Given the description of an element on the screen output the (x, y) to click on. 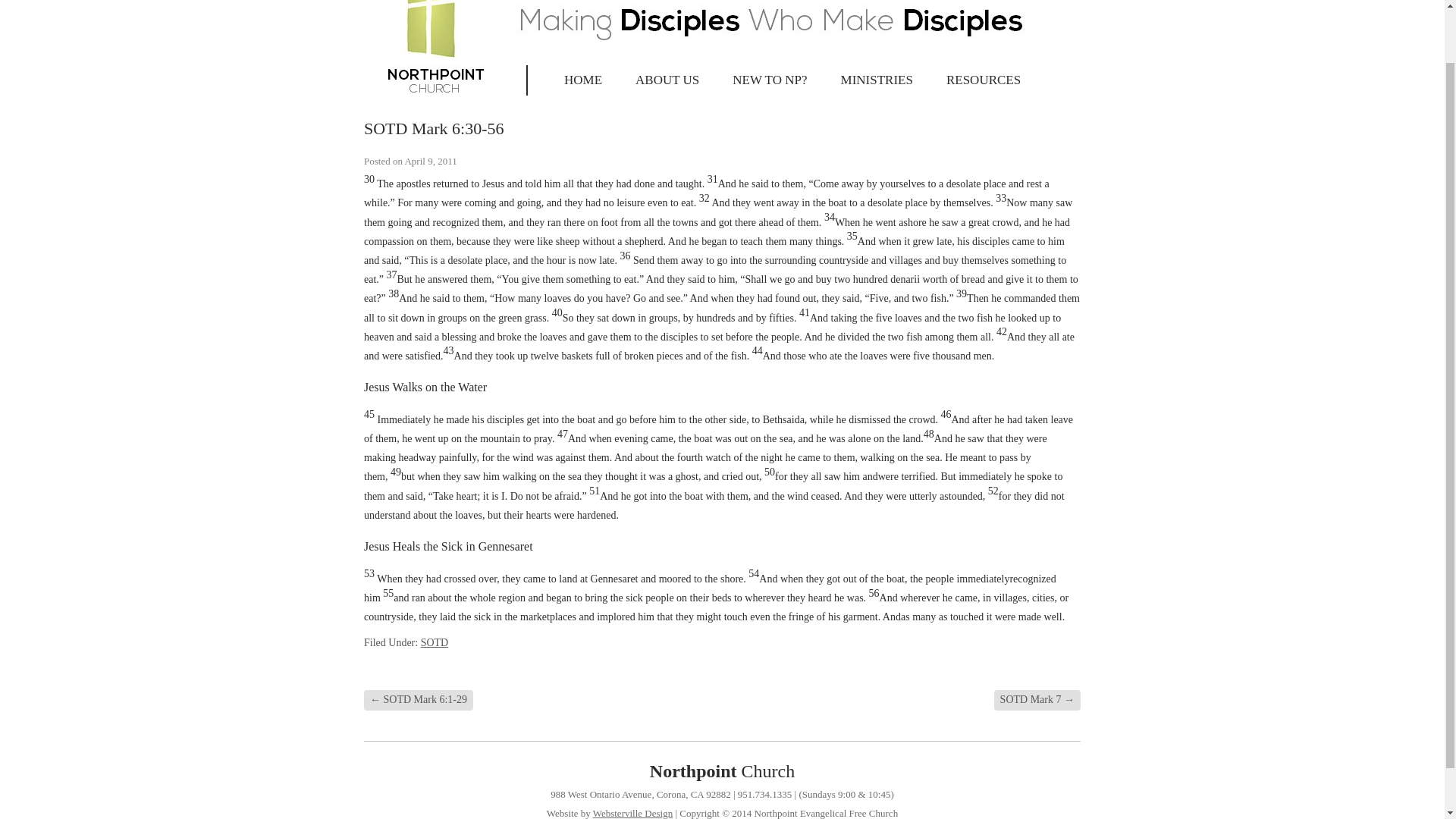
MINISTRIES (877, 80)
HOME (582, 80)
RESOURCES (983, 80)
NEW TO NP? (770, 80)
ABOUT US (667, 80)
